Given the description of an element on the screen output the (x, y) to click on. 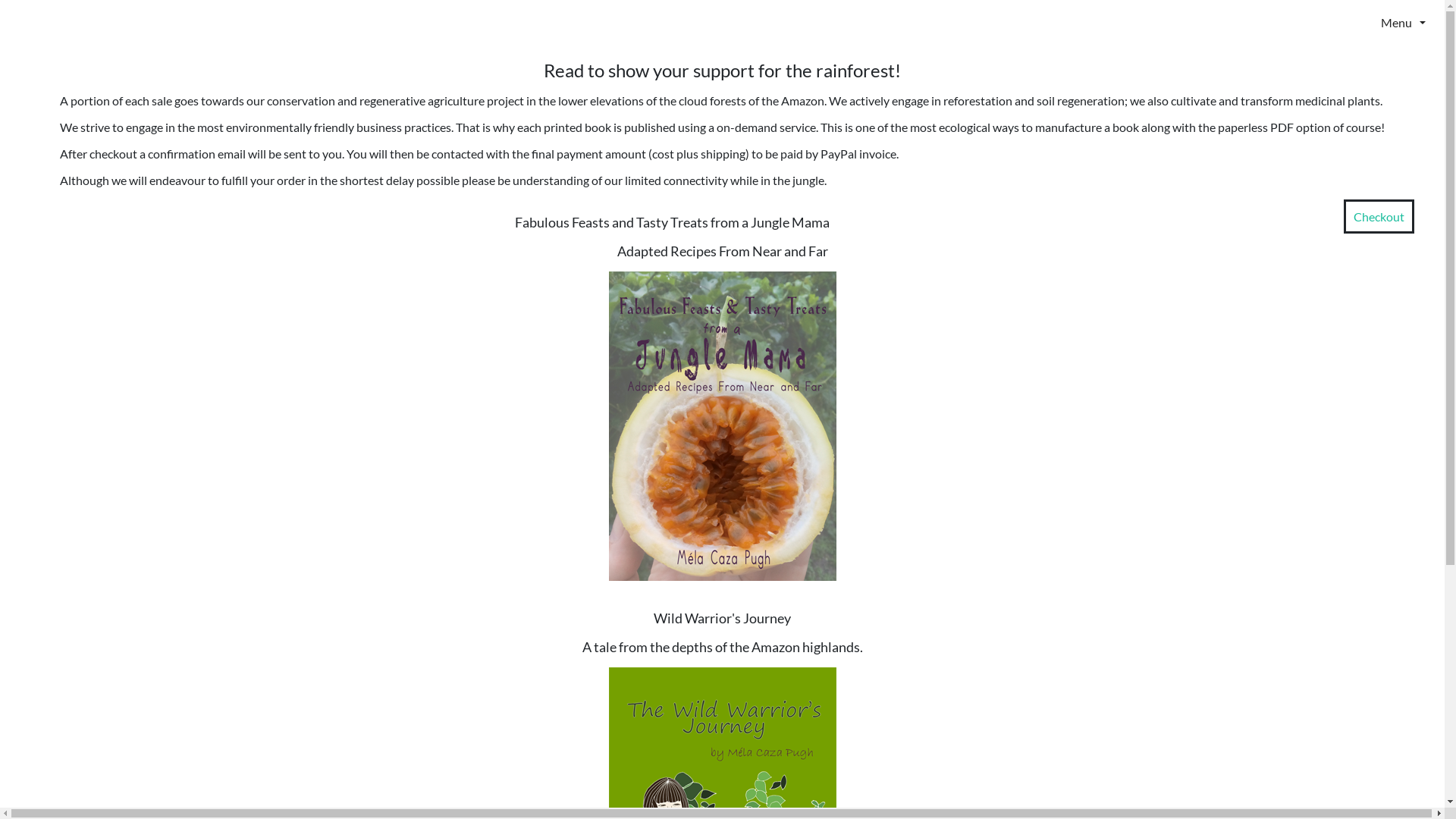
Checkout Element type: text (1378, 216)
                                      Menu   Element type: text (1359, 22)
